Given the description of an element on the screen output the (x, y) to click on. 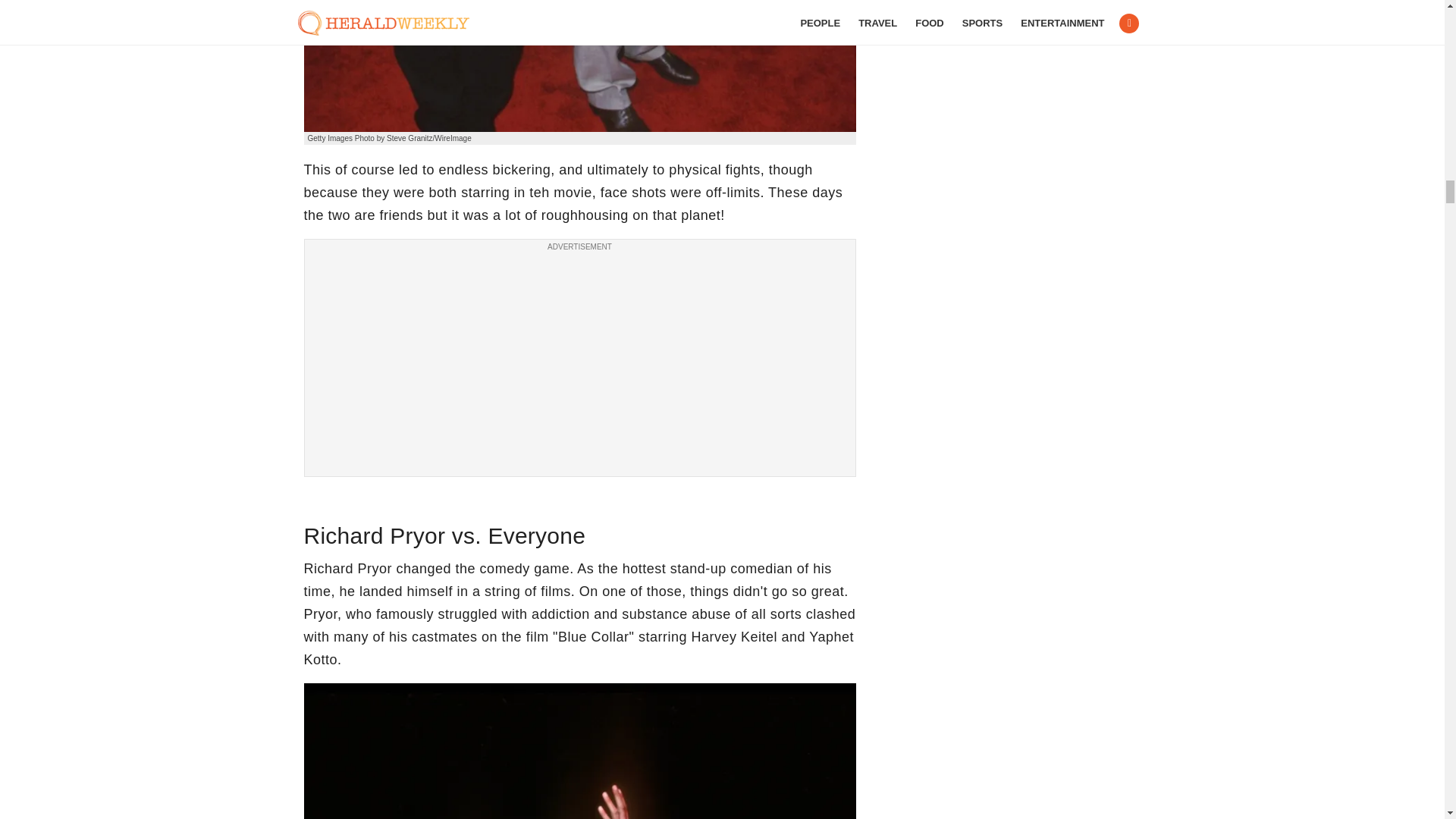
Richard Pryor vs. Everyone (579, 751)
Tom Sizemore Vs. Val Kilmer (579, 66)
